Given the description of an element on the screen output the (x, y) to click on. 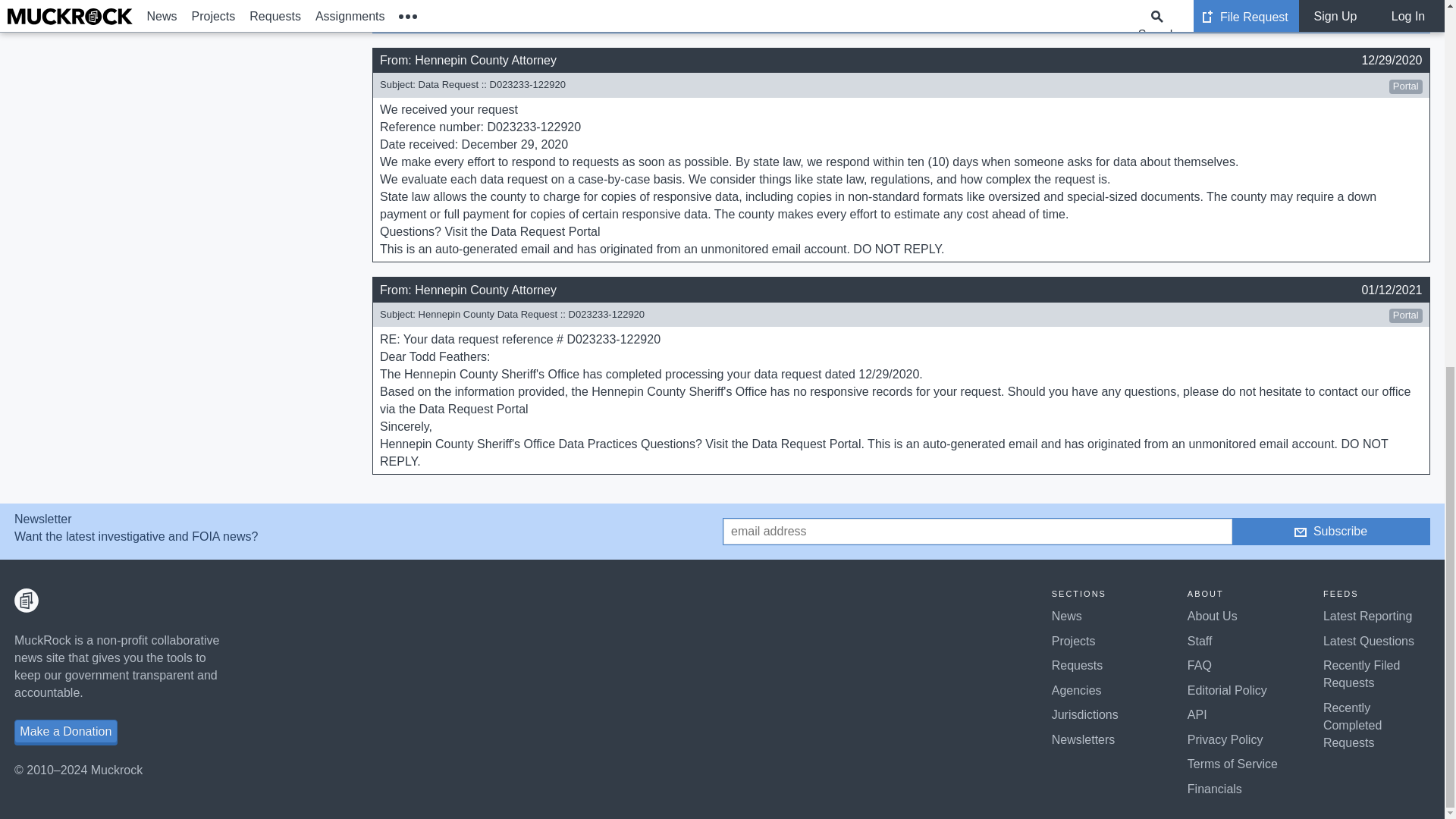
Newsletters (1083, 739)
Requests (1077, 665)
Projects (1073, 640)
Make a Donation (65, 730)
Email Icon resembling an envelope. (1300, 532)
News (1066, 615)
Agencies (1076, 689)
Jurisdictions (1084, 714)
Email Icon resembling an envelope. Subscribe (1330, 531)
